Given the description of an element on the screen output the (x, y) to click on. 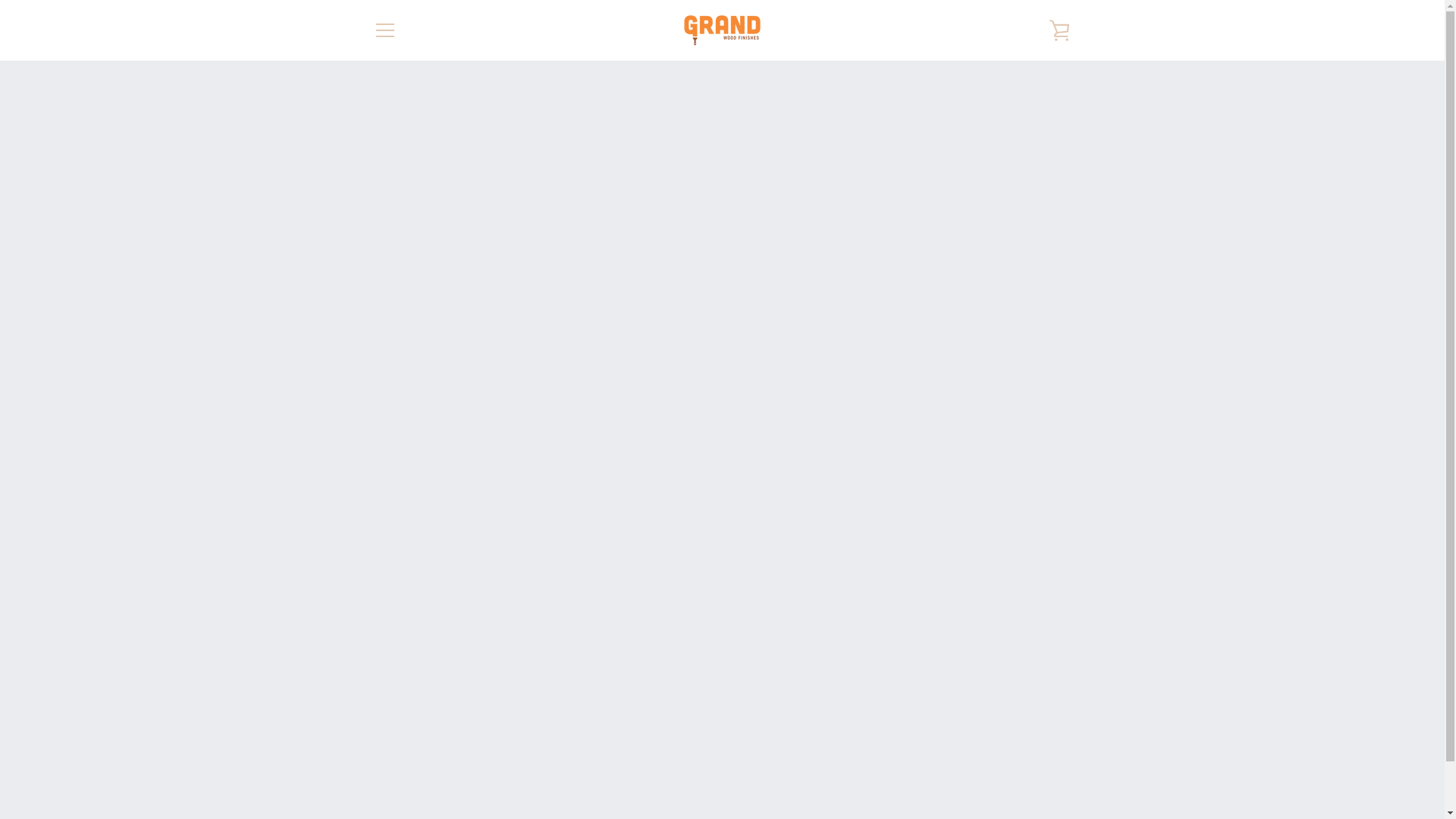
VIEW CART (1059, 30)
MENU (384, 30)
